Given the description of an element on the screen output the (x, y) to click on. 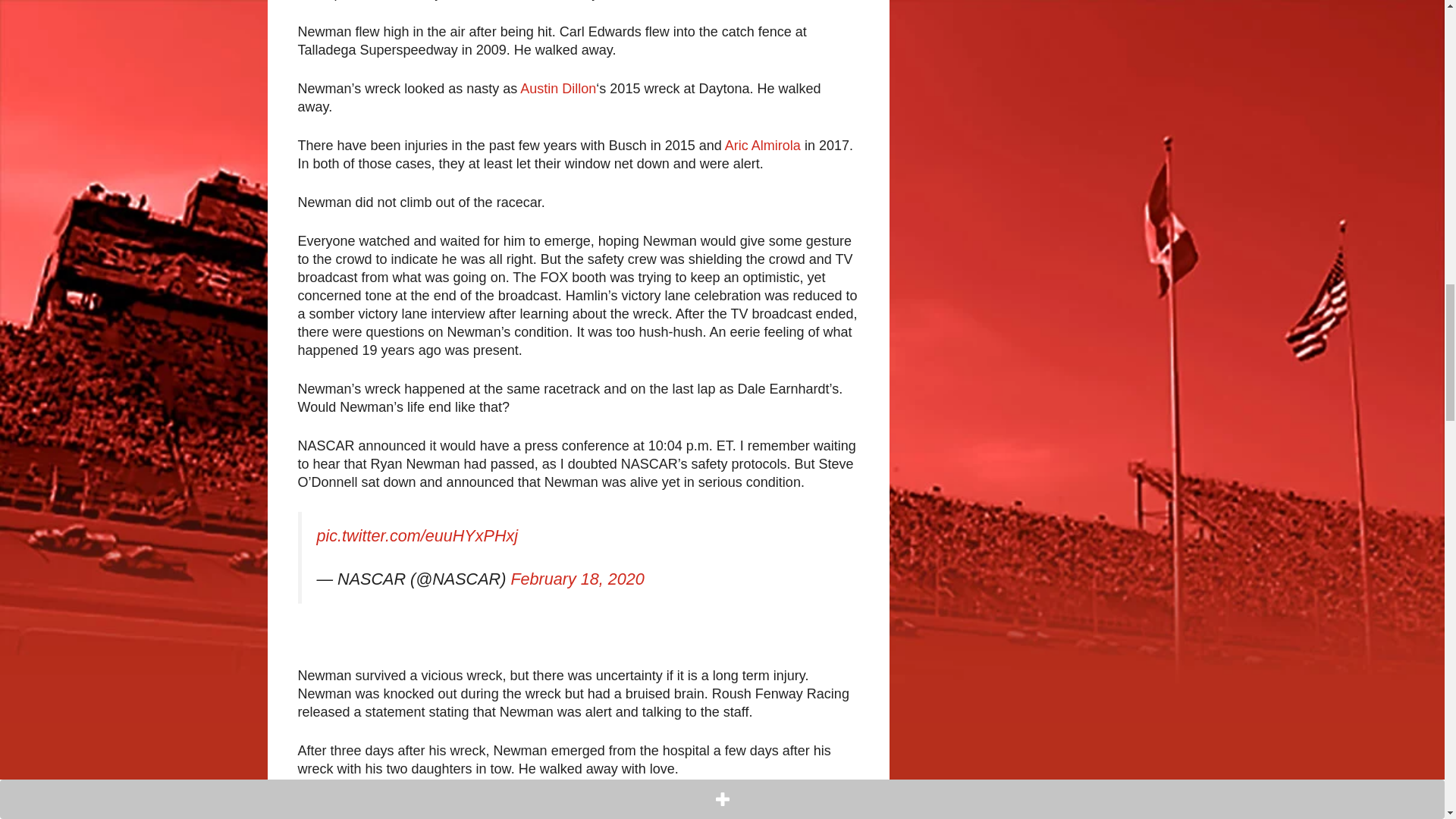
February 18, 2020 (577, 578)
Aric Almirola (762, 145)
Austin Dillon (557, 88)
